Given the description of an element on the screen output the (x, y) to click on. 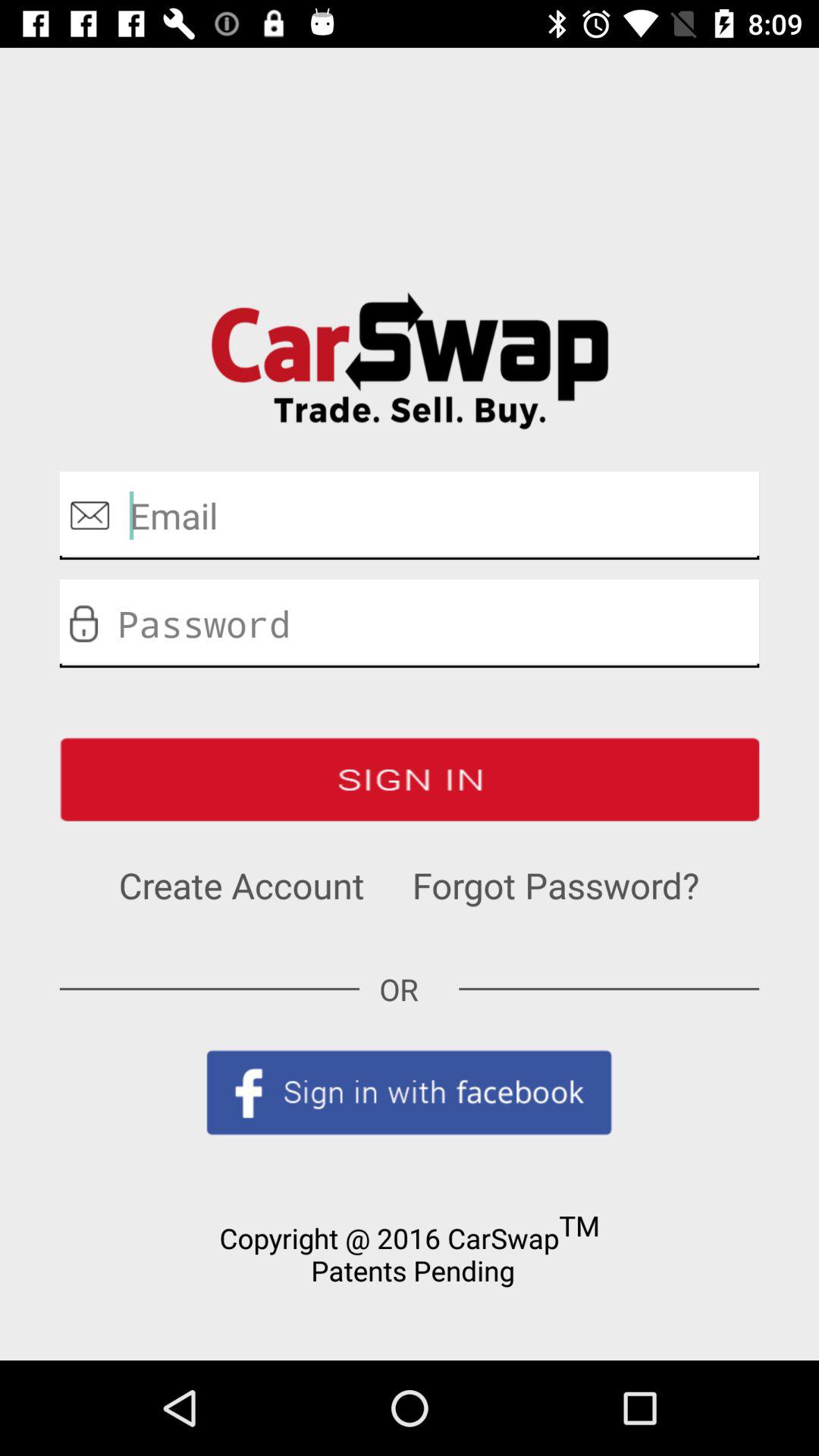
sign in with facebook (409, 1092)
